Given the description of an element on the screen output the (x, y) to click on. 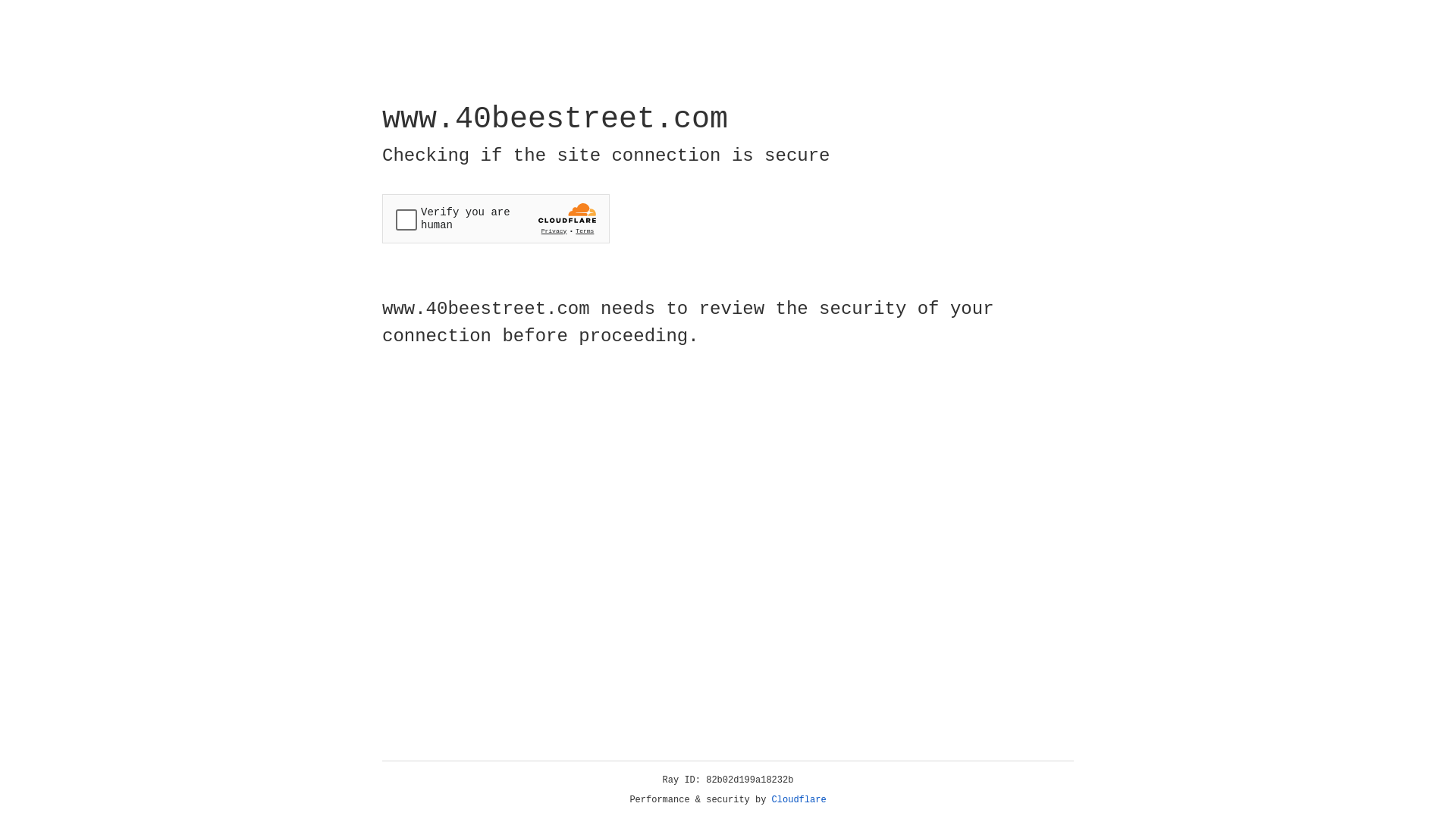
Cloudflare Element type: text (798, 799)
Widget containing a Cloudflare security challenge Element type: hover (495, 218)
